Given the description of an element on the screen output the (x, y) to click on. 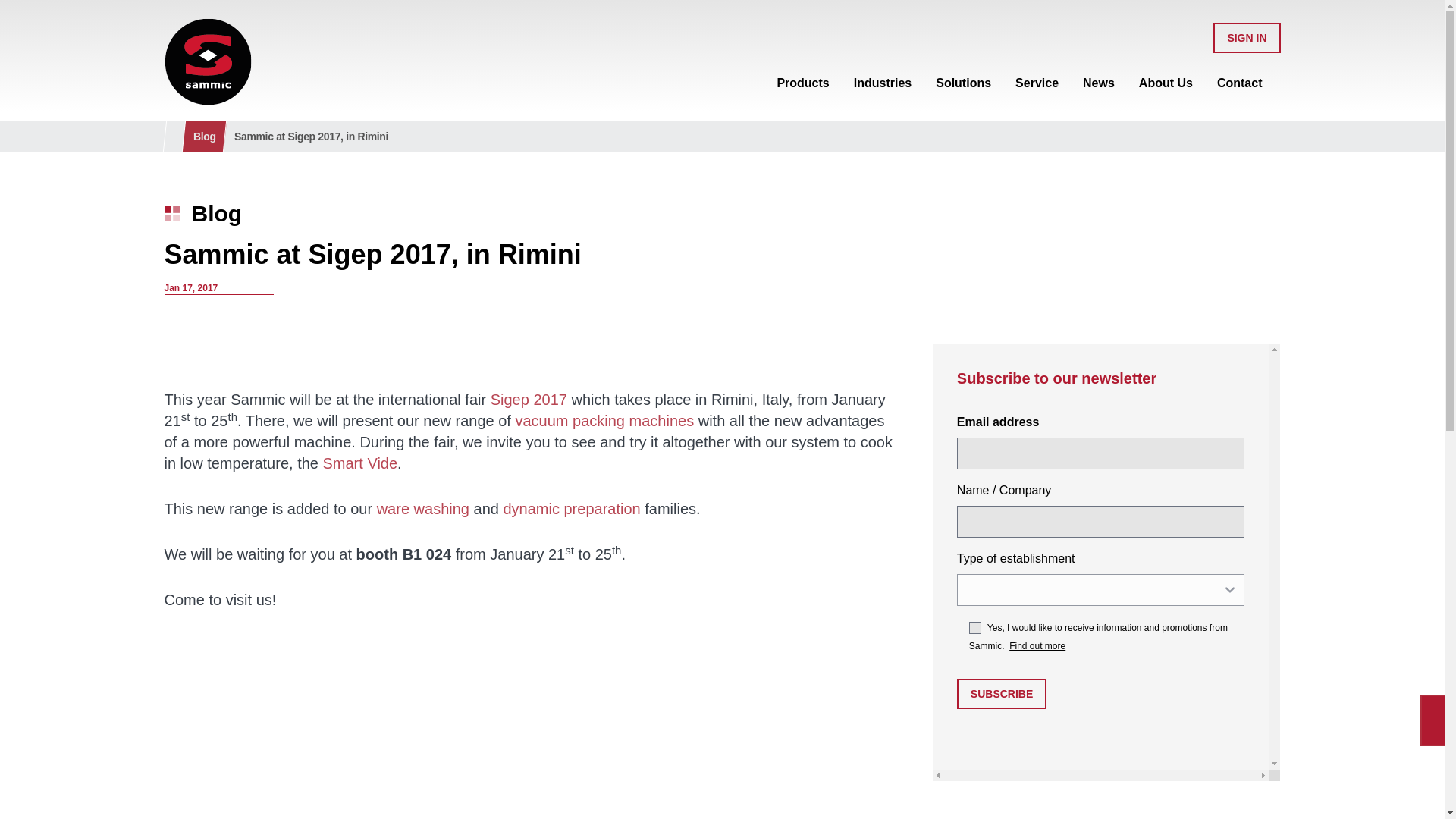
News (1099, 78)
Contact (1239, 78)
SIGN IN (1245, 36)
Y (975, 627)
Main page (206, 61)
